Given the description of an element on the screen output the (x, y) to click on. 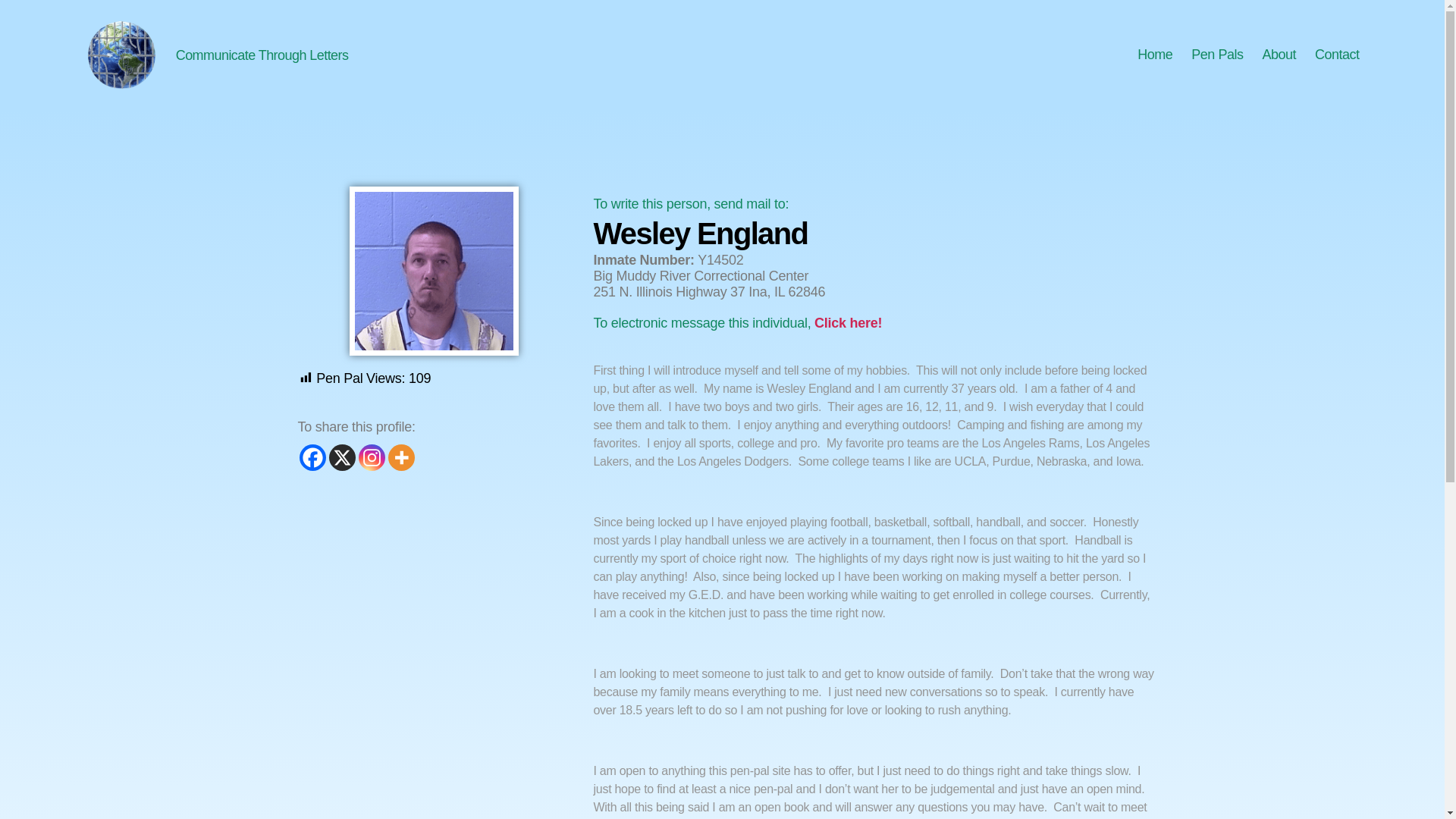
About (1278, 54)
X (342, 457)
Instagram (371, 457)
Pen Pals (1217, 54)
Contact (1336, 54)
Facebook (311, 457)
Home (1154, 54)
More (401, 457)
Click here! (846, 322)
